Given the description of an element on the screen output the (x, y) to click on. 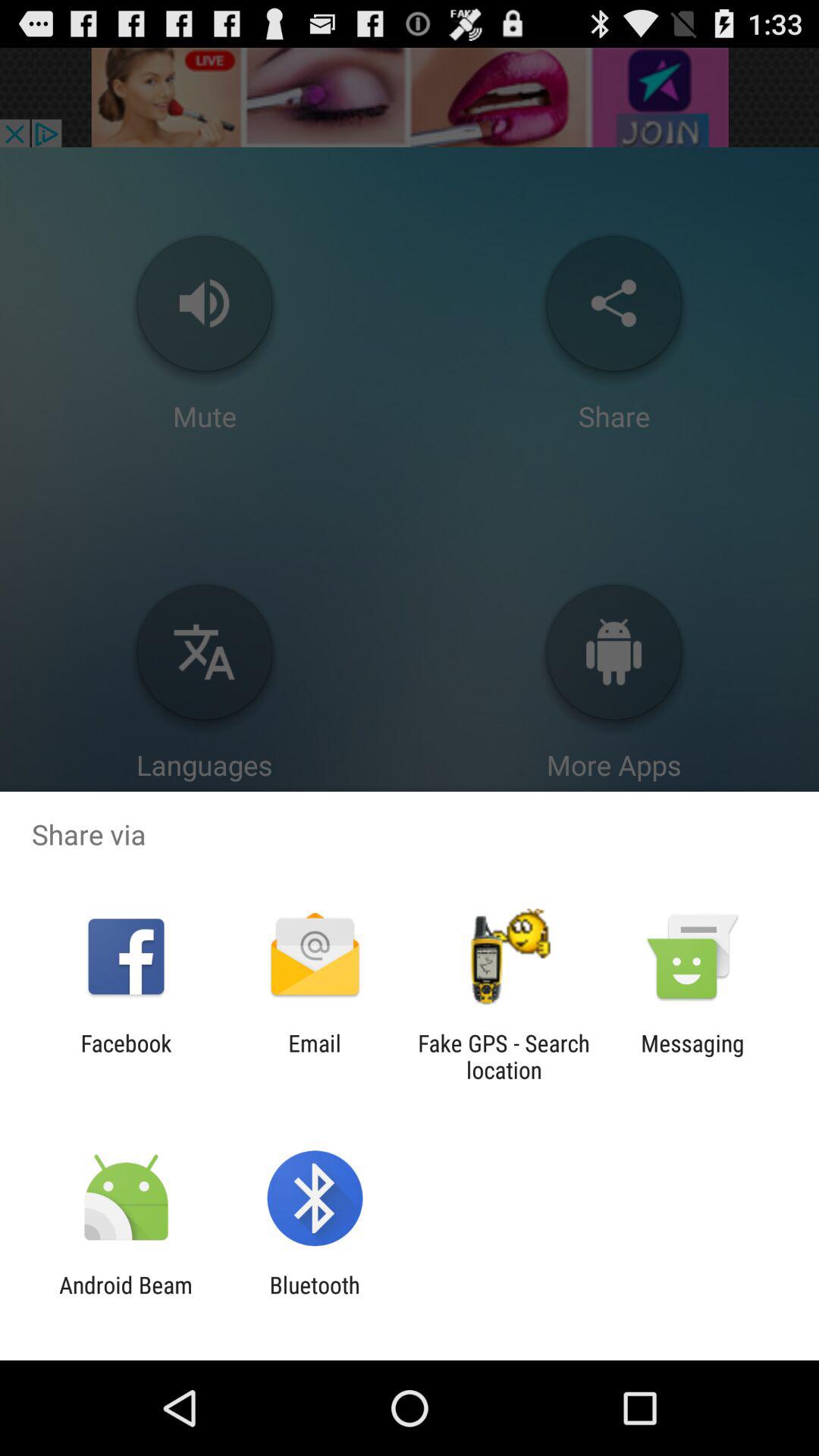
open the facebook (125, 1056)
